Given the description of an element on the screen output the (x, y) to click on. 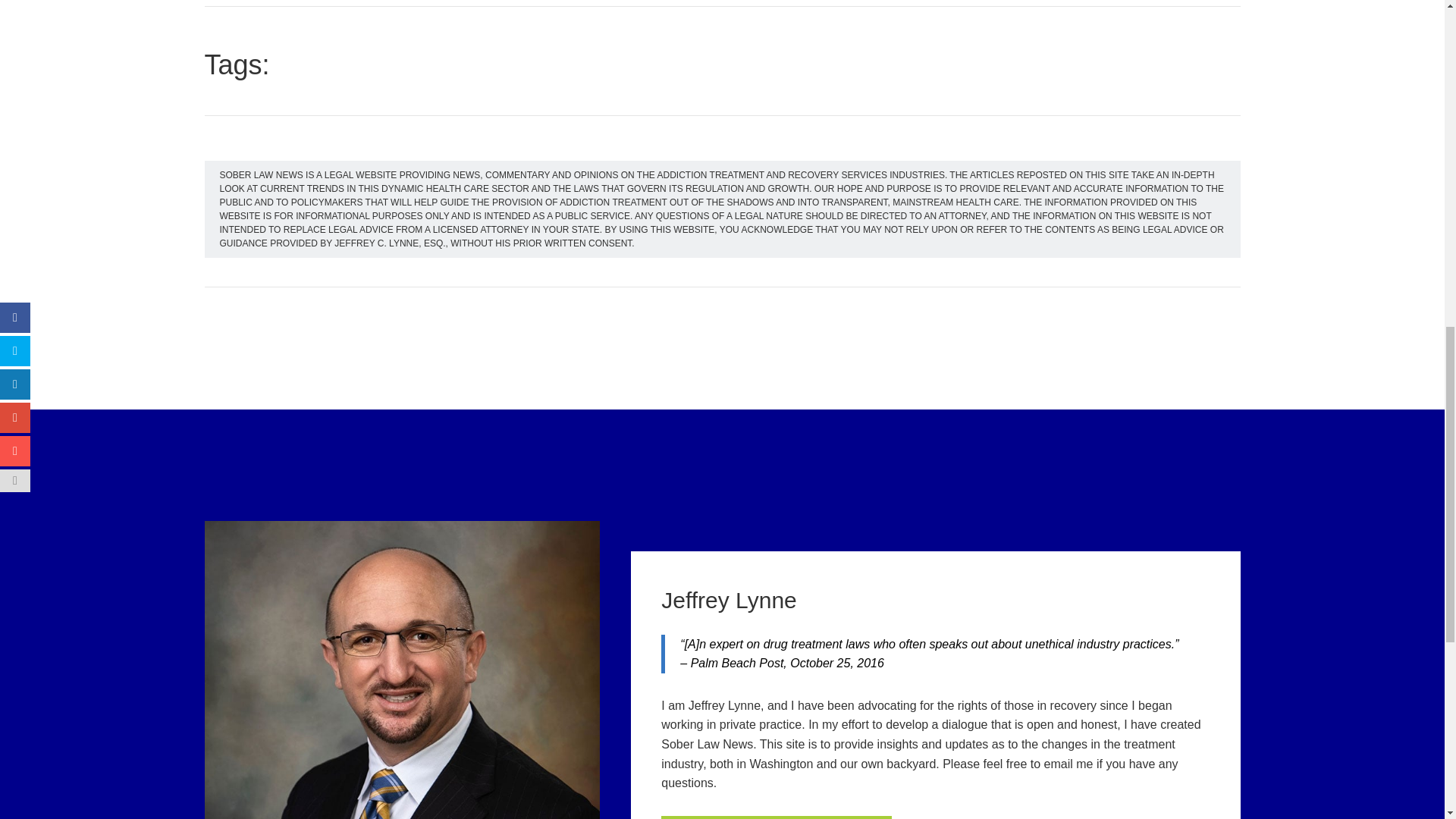
JeffreyLynne2020 (402, 669)
